Given the description of an element on the screen output the (x, y) to click on. 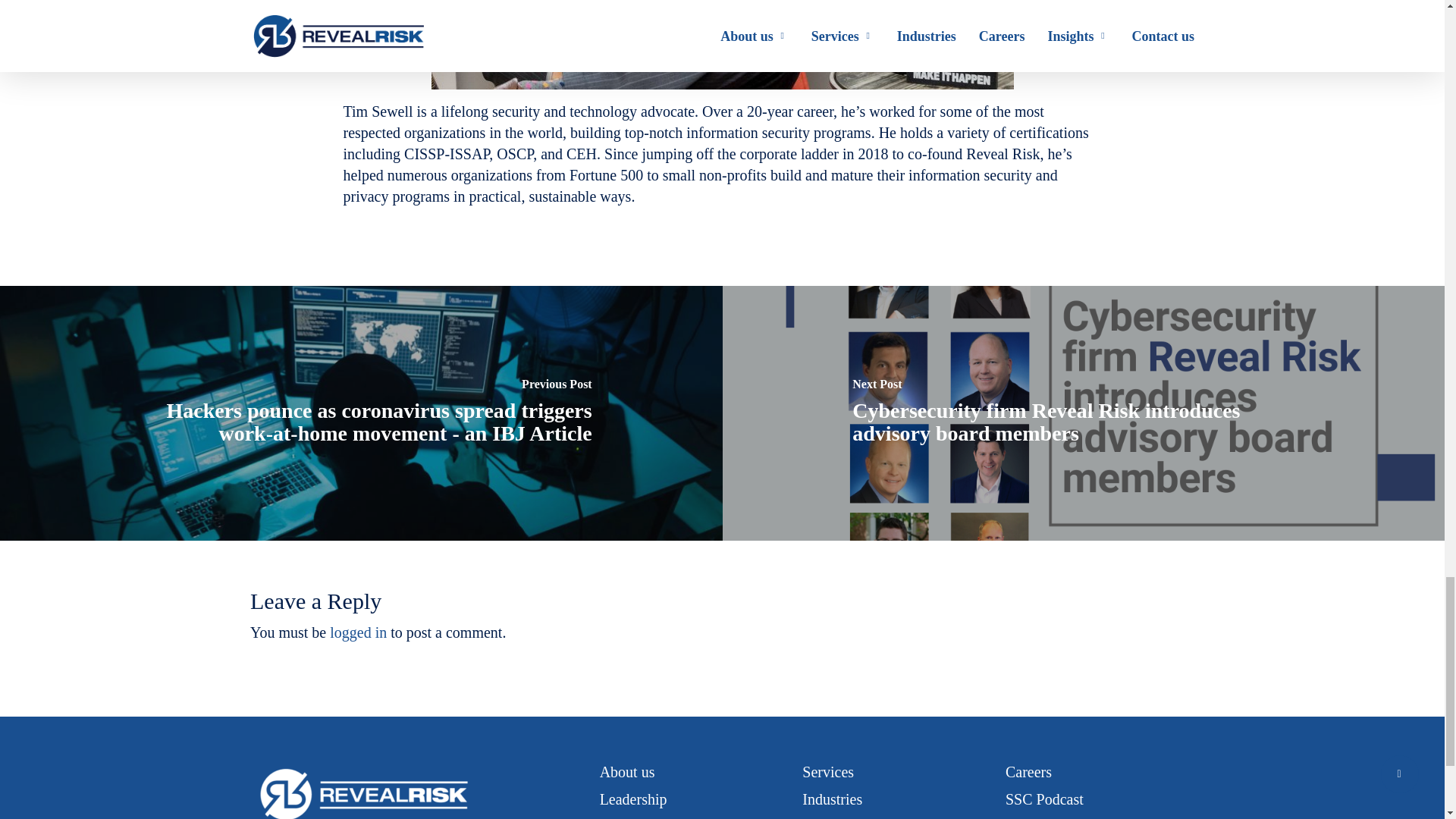
logged in (358, 632)
About us (627, 771)
Contact us (1038, 818)
Articles (826, 818)
Careers (1028, 771)
Services (827, 771)
Industries (831, 799)
Leadership (632, 799)
SSC Podcast (1044, 799)
